Given the description of an element on the screen output the (x, y) to click on. 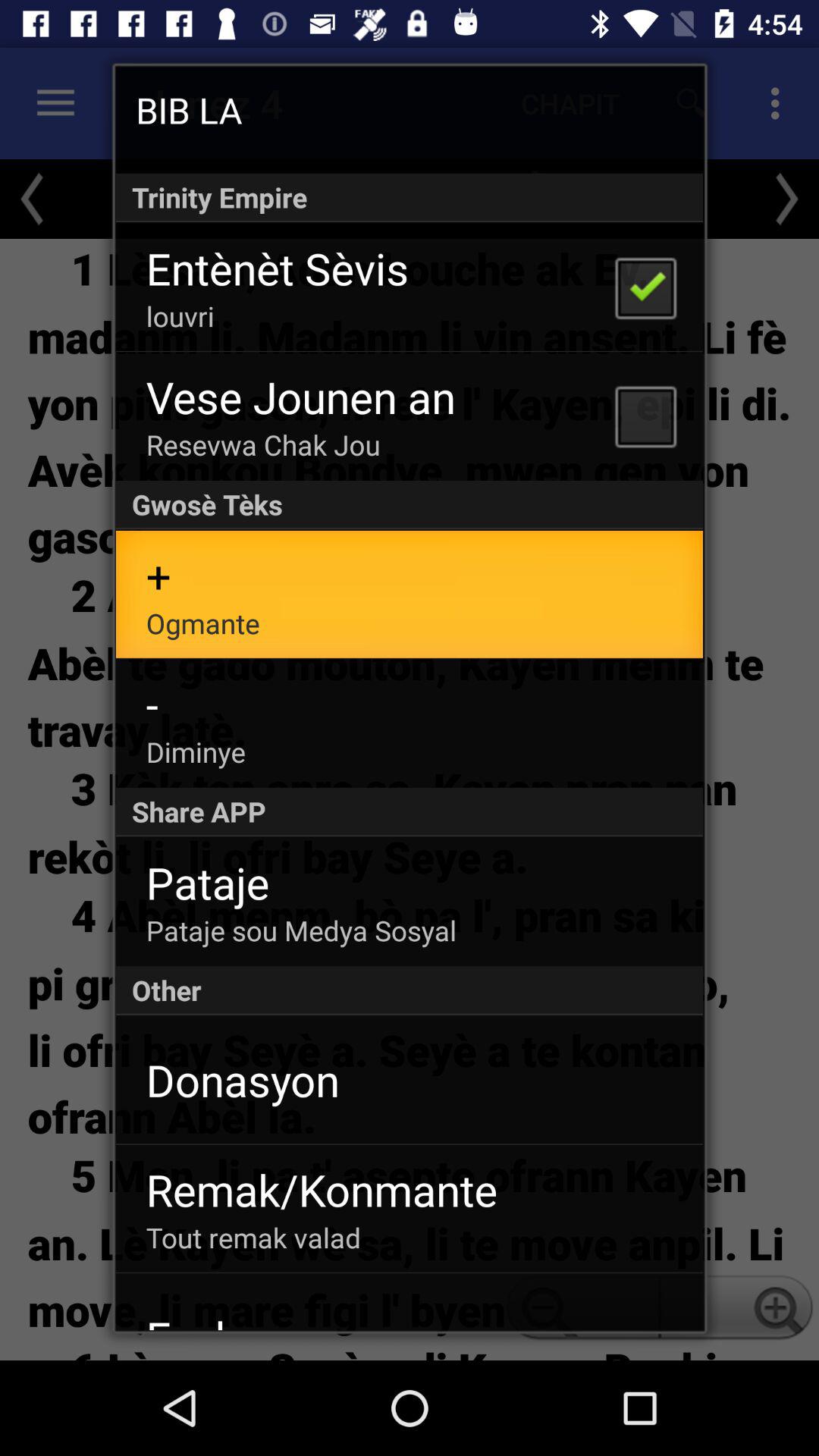
swipe until - (152, 703)
